Given the description of an element on the screen output the (x, y) to click on. 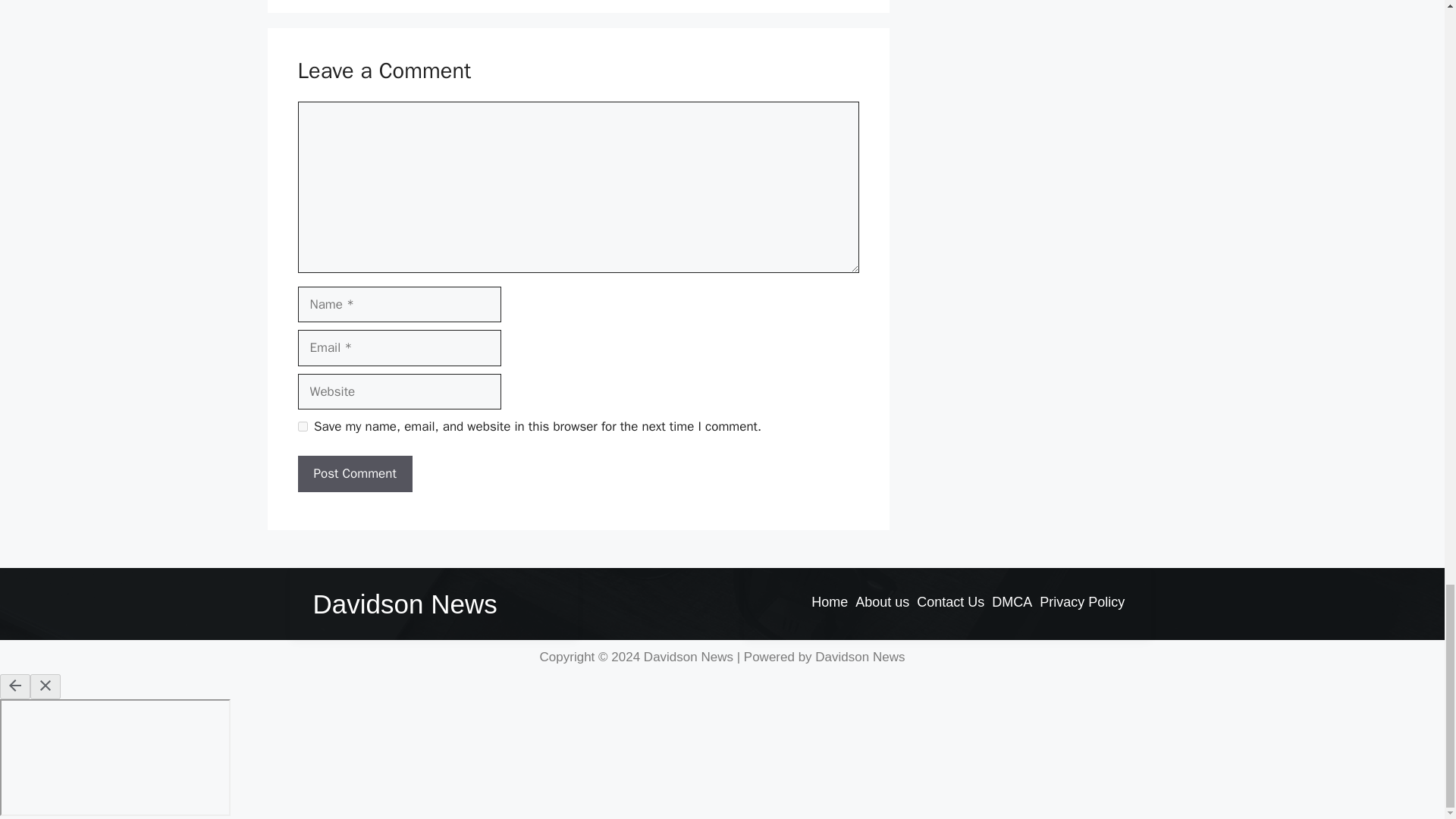
Contact Us (950, 601)
Post Comment (354, 473)
DMCA (1011, 601)
Privacy Policy (1081, 601)
About us (881, 601)
yes (302, 426)
Home (829, 601)
Post Comment (354, 473)
Davidson News (404, 603)
